Given the description of an element on the screen output the (x, y) to click on. 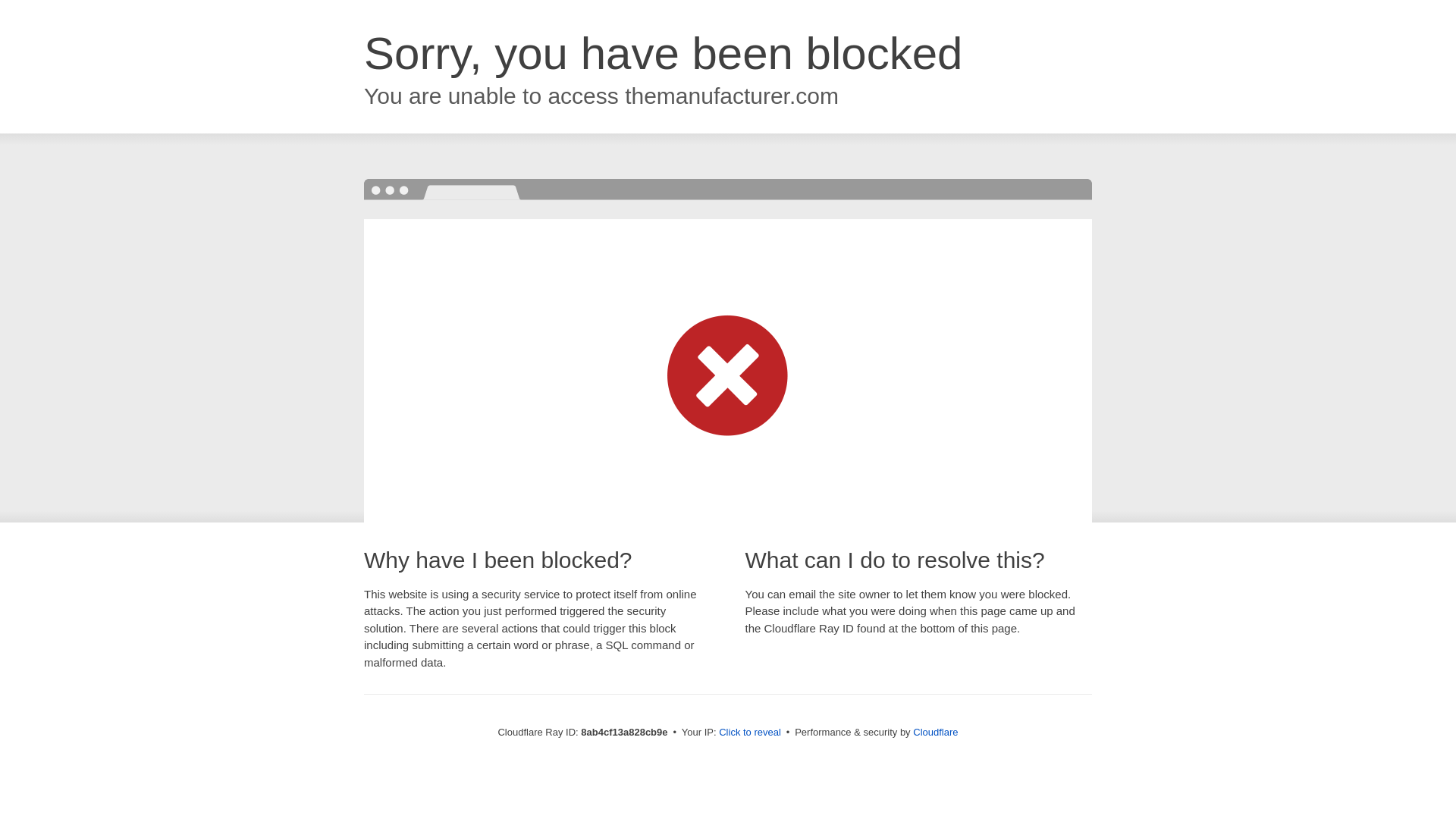
Cloudflare (935, 731)
Click to reveal (749, 732)
